Given the description of an element on the screen output the (x, y) to click on. 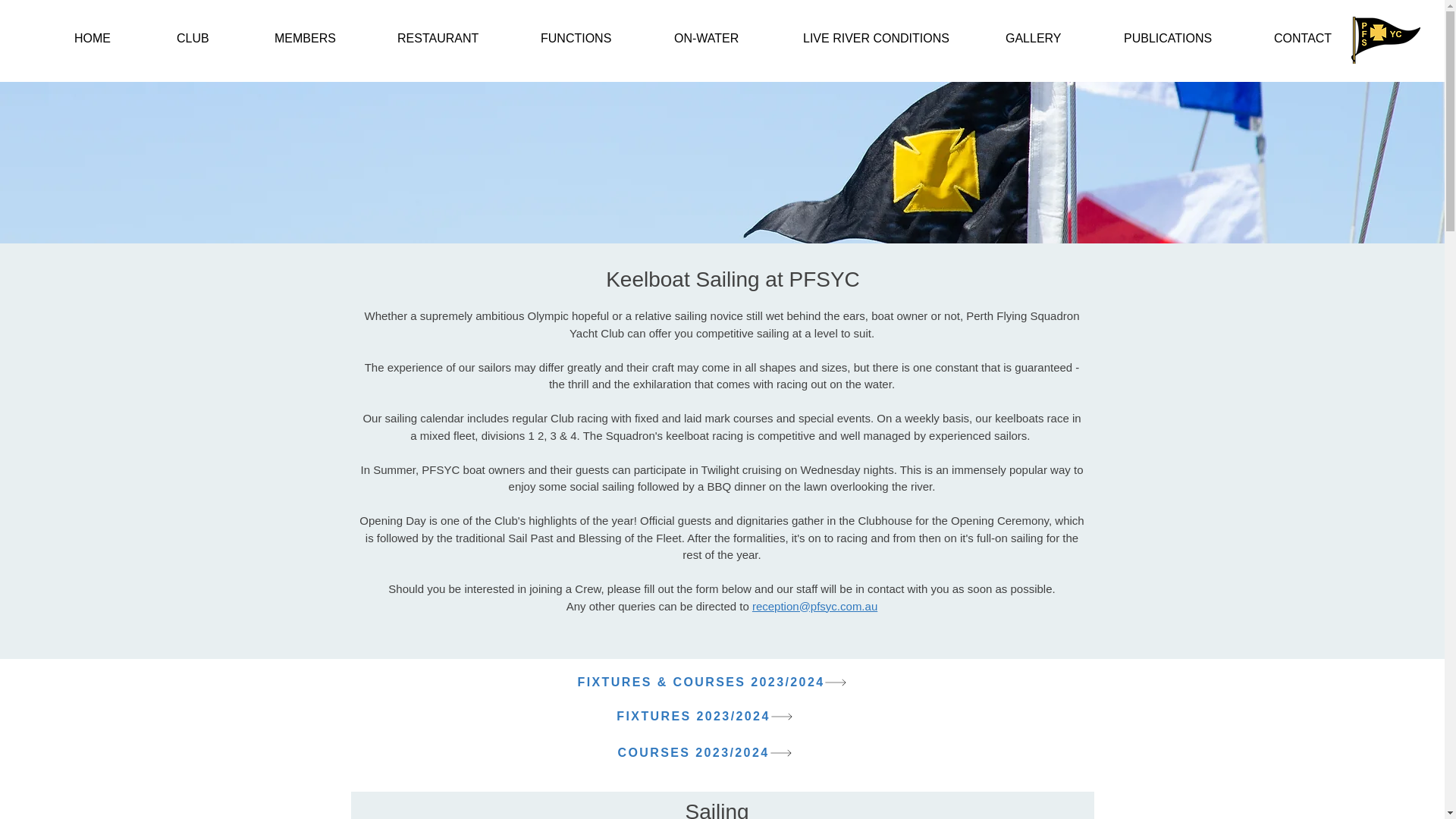
FUNCTIONS (594, 31)
MEMBERS (322, 31)
CLUB (211, 31)
HOME (112, 31)
LIVE RIVER CONDITIONS (890, 31)
GALLERY (1050, 31)
ON-WATER (725, 31)
RESTAURANT (455, 31)
